Given the description of an element on the screen output the (x, y) to click on. 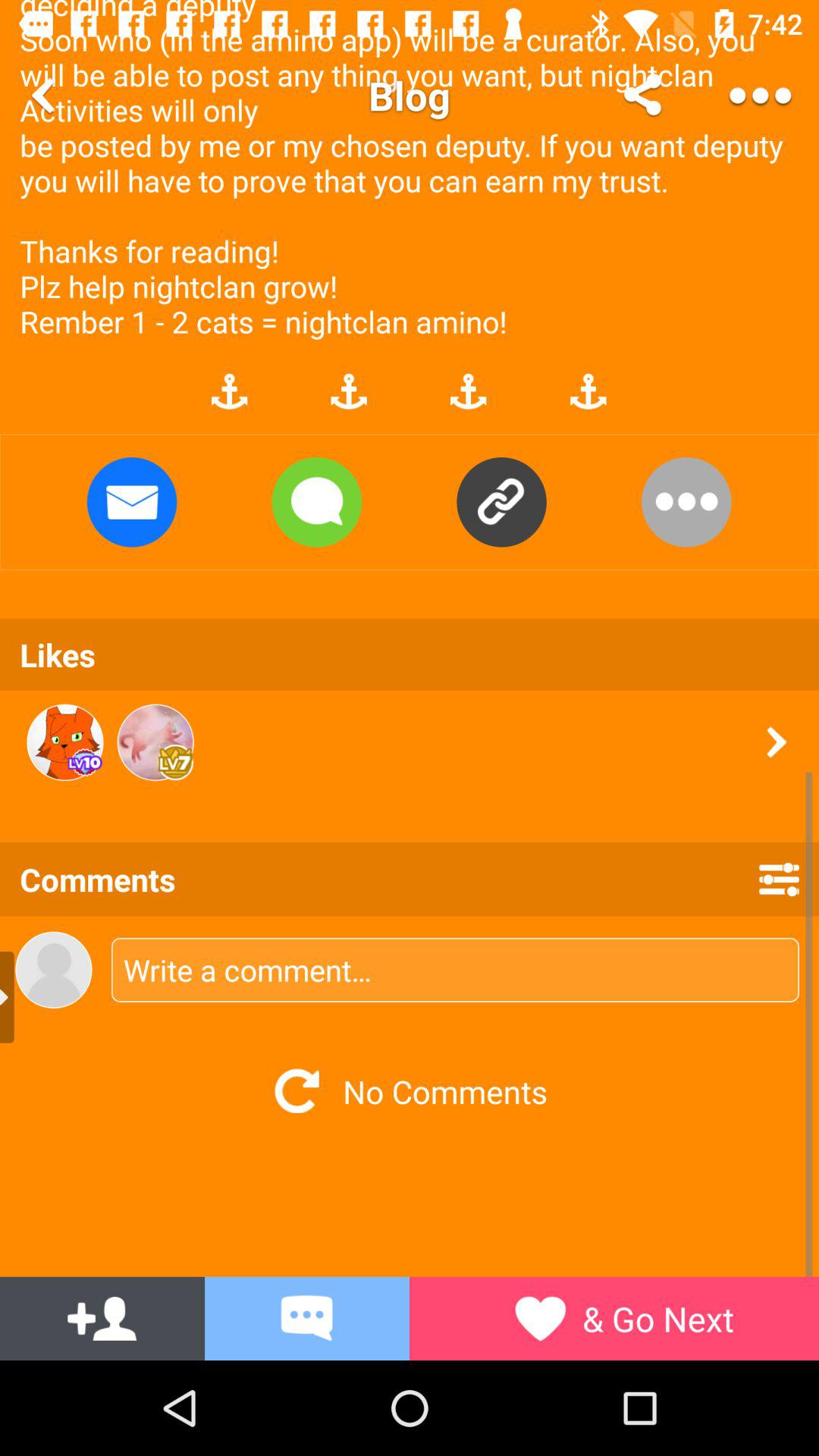
click on the symbol left side of  go next (539, 1317)
click the message icon (306, 1318)
